Given the description of an element on the screen output the (x, y) to click on. 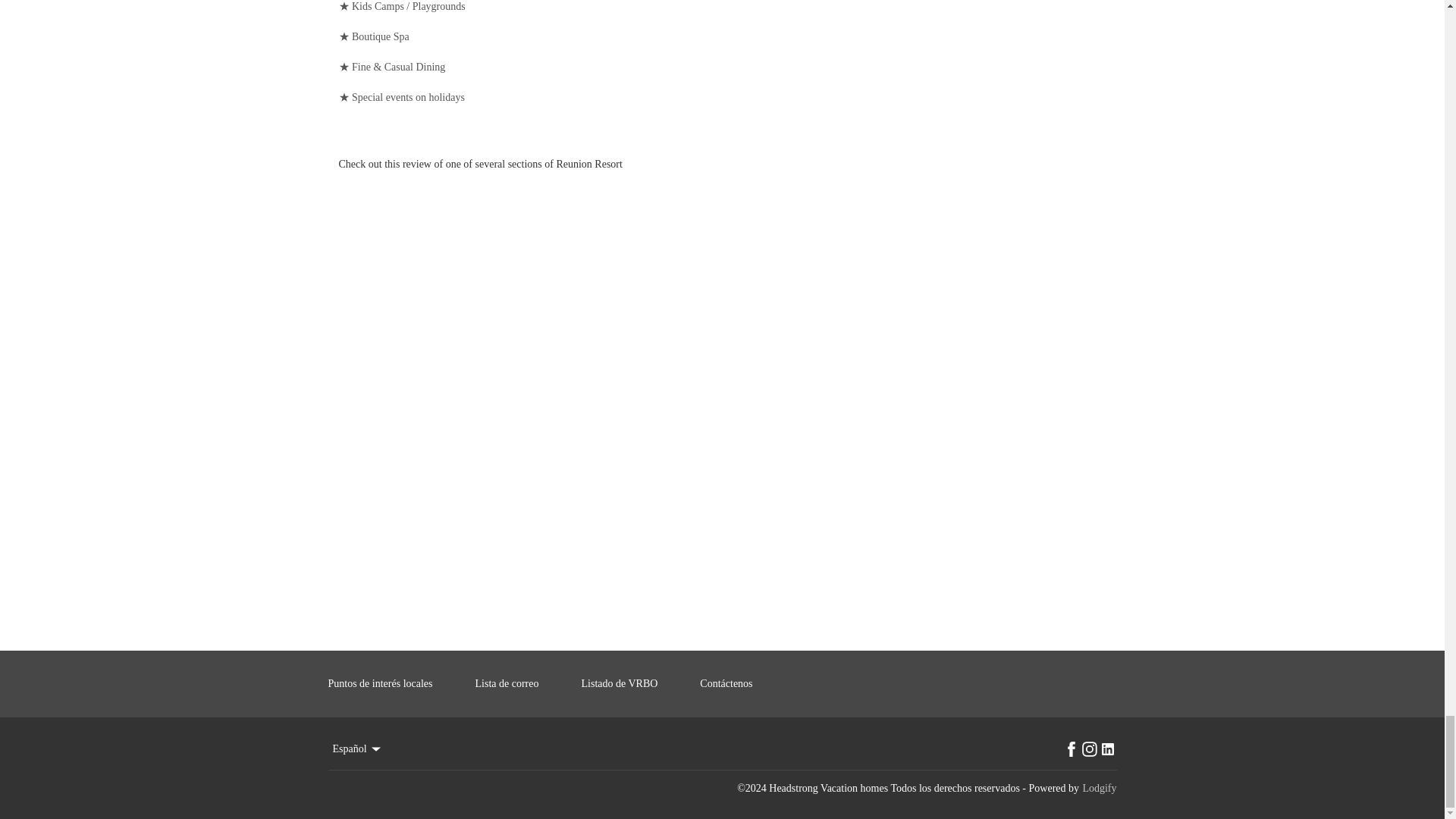
Instagram (1088, 749)
Lista de correo (521, 683)
Lodgify (1098, 788)
Facebook (1070, 749)
Linkedin (1106, 749)
Listado de VRBO (632, 683)
Linkedin (1106, 749)
Instagram (1088, 749)
Facebook (1070, 749)
